Given the description of an element on the screen output the (x, y) to click on. 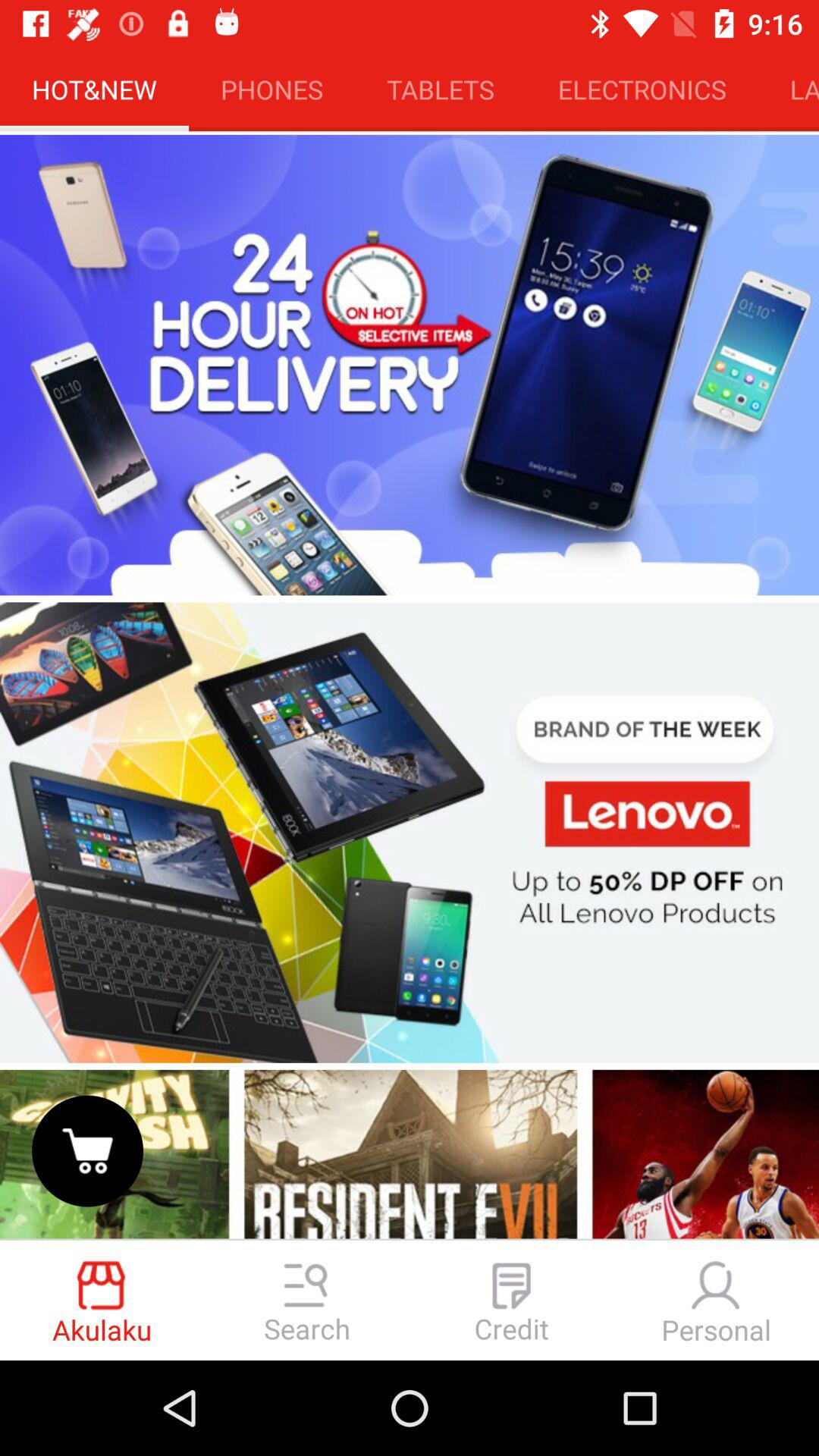
view the brand of the week (409, 832)
